Given the description of an element on the screen output the (x, y) to click on. 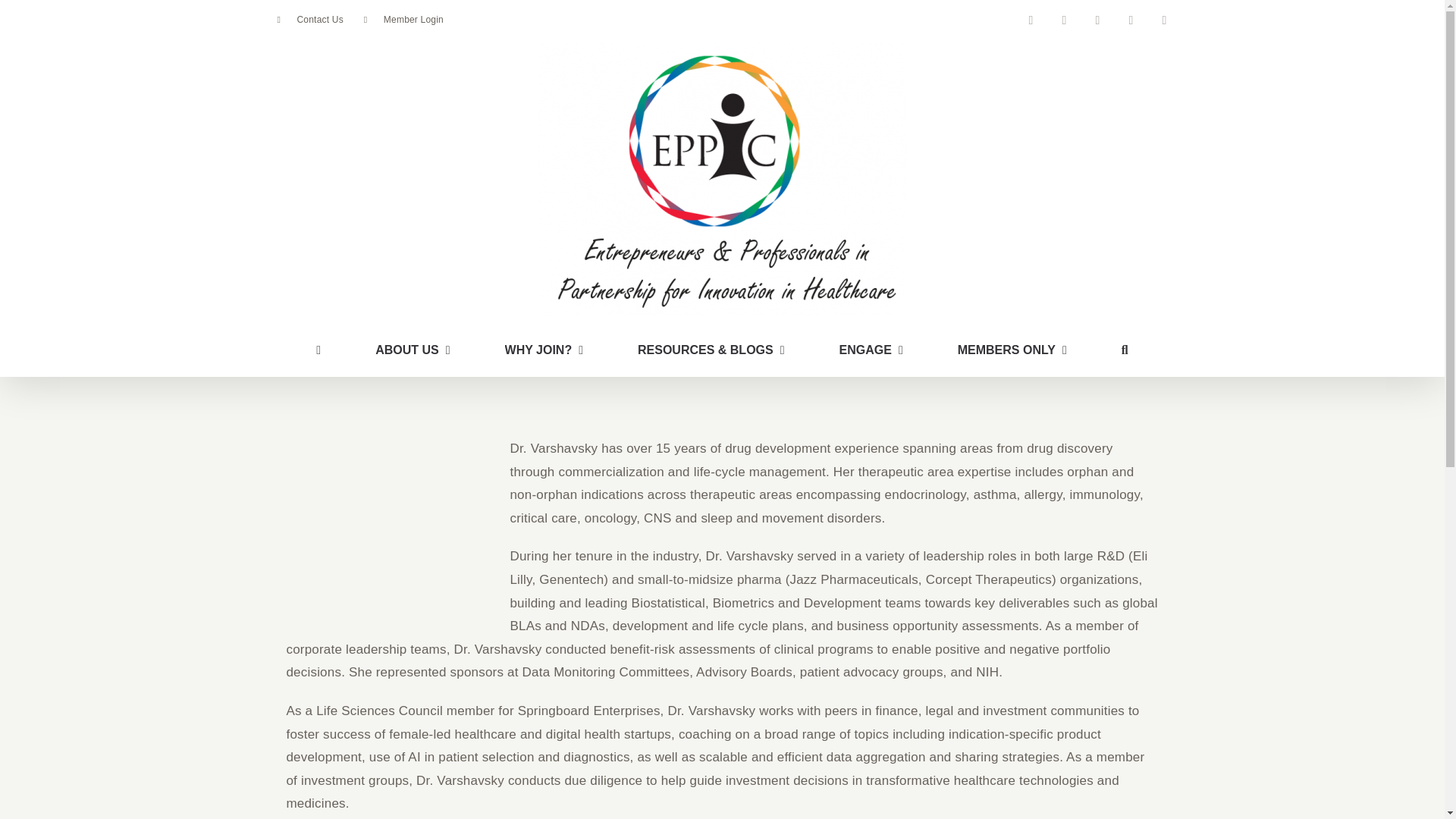
Twitter (1096, 20)
ABOUT US (412, 349)
Twitter (1096, 20)
WHY JOIN? (544, 349)
Contact Us (309, 20)
YouTube (1130, 20)
Instagram (1163, 20)
Member Login (402, 20)
Instagram (1163, 20)
LinkedIn (1064, 20)
